Given the description of an element on the screen output the (x, y) to click on. 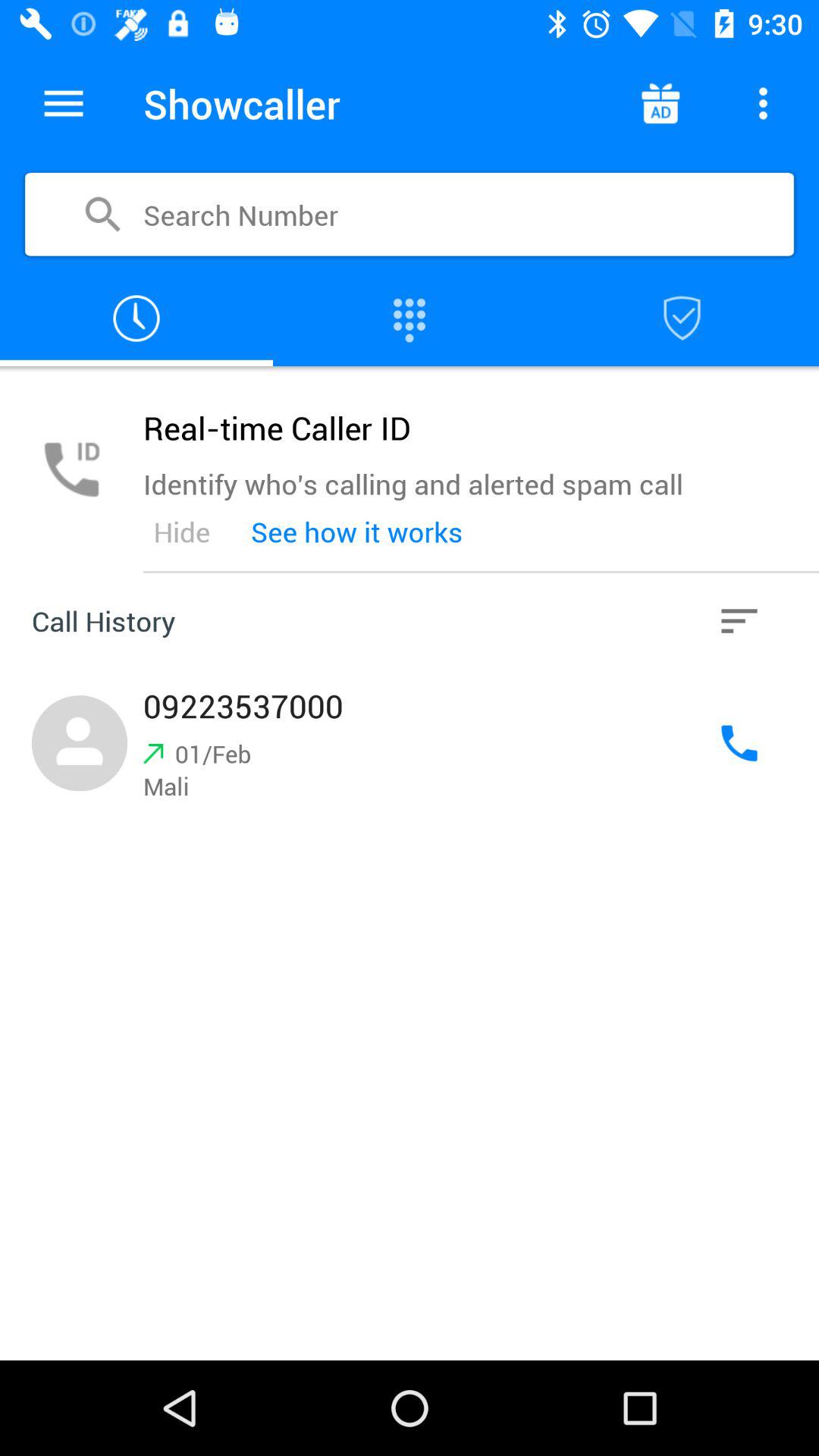
show the date history (136, 318)
